Given the description of an element on the screen output the (x, y) to click on. 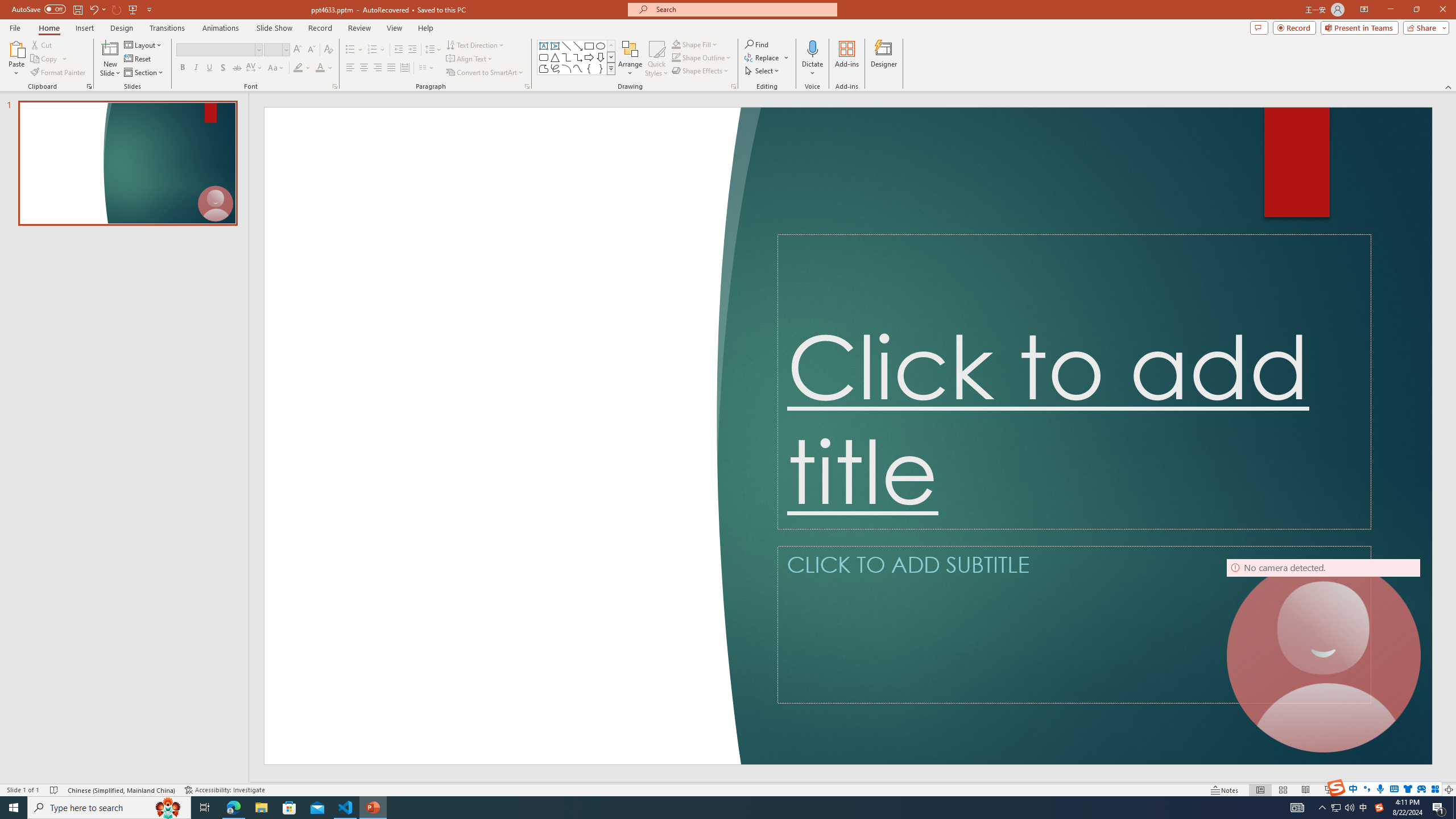
Shape Outline Dark Red, Accent 1 (675, 56)
